Given the description of an element on the screen output the (x, y) to click on. 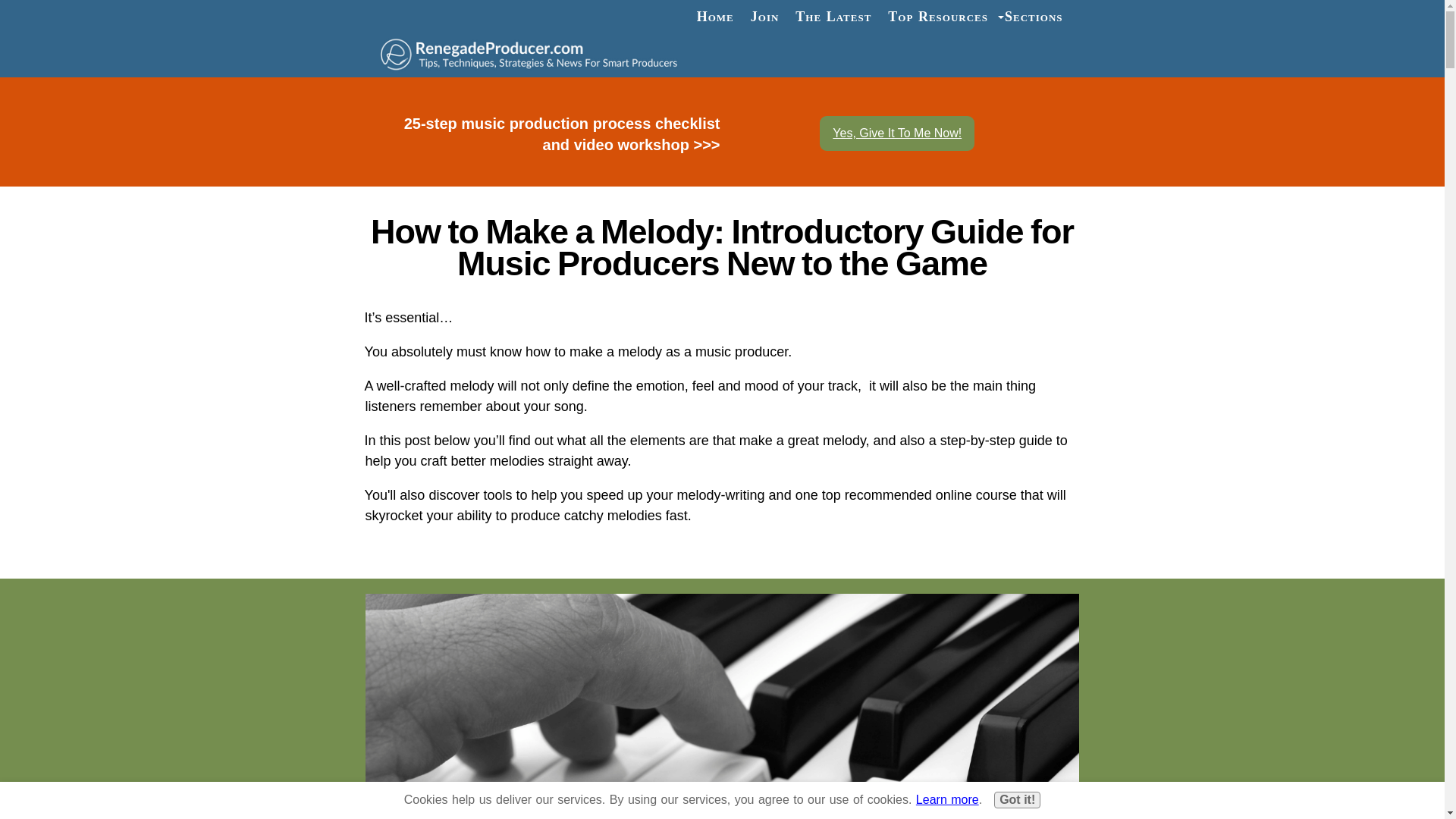
Yes, Give It To Me Now! (896, 133)
The Latest (833, 16)
Home (715, 16)
Join (764, 16)
Top Resources (937, 16)
